Given the description of an element on the screen output the (x, y) to click on. 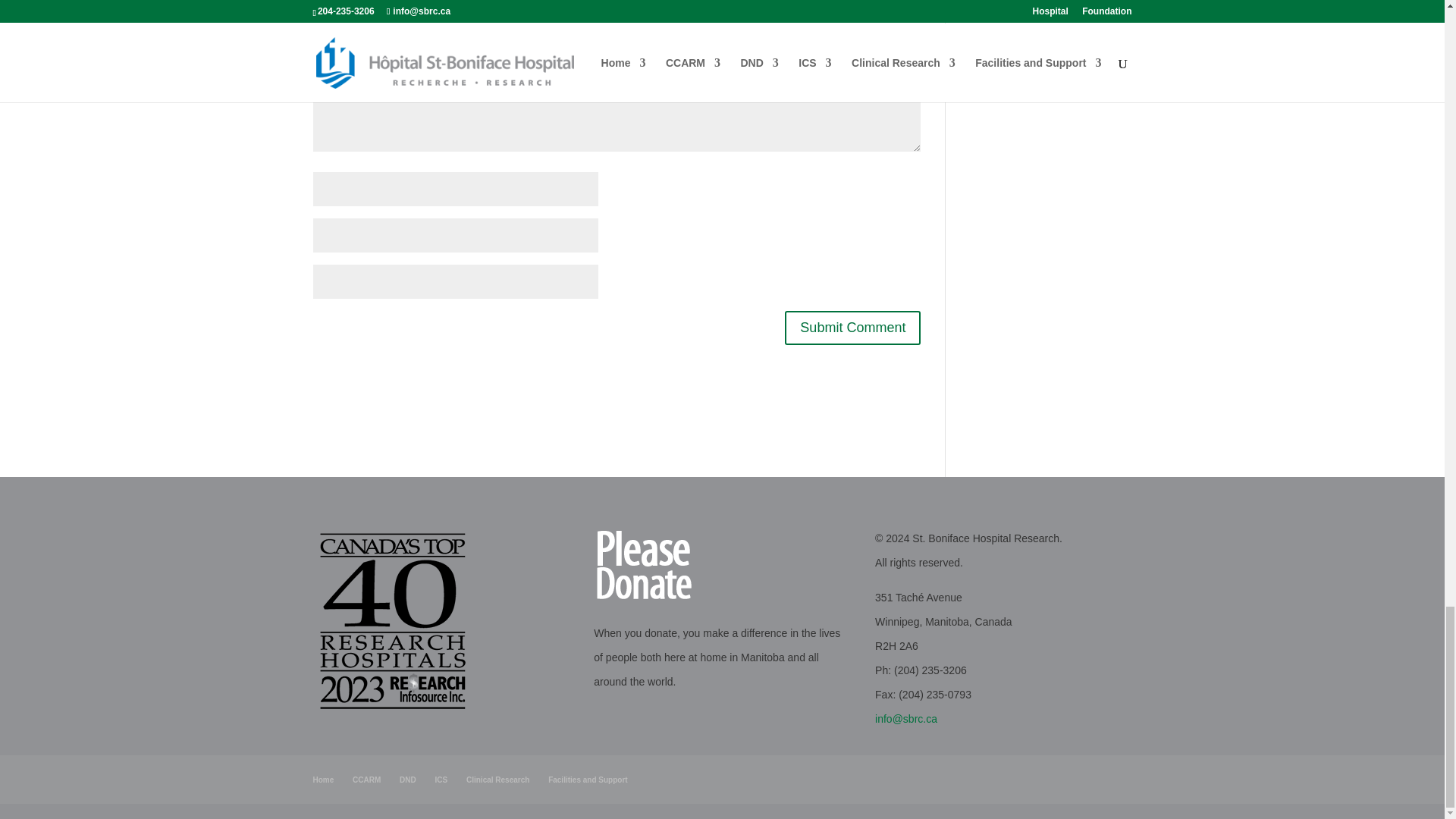
Submit Comment (852, 327)
